Given the description of an element on the screen output the (x, y) to click on. 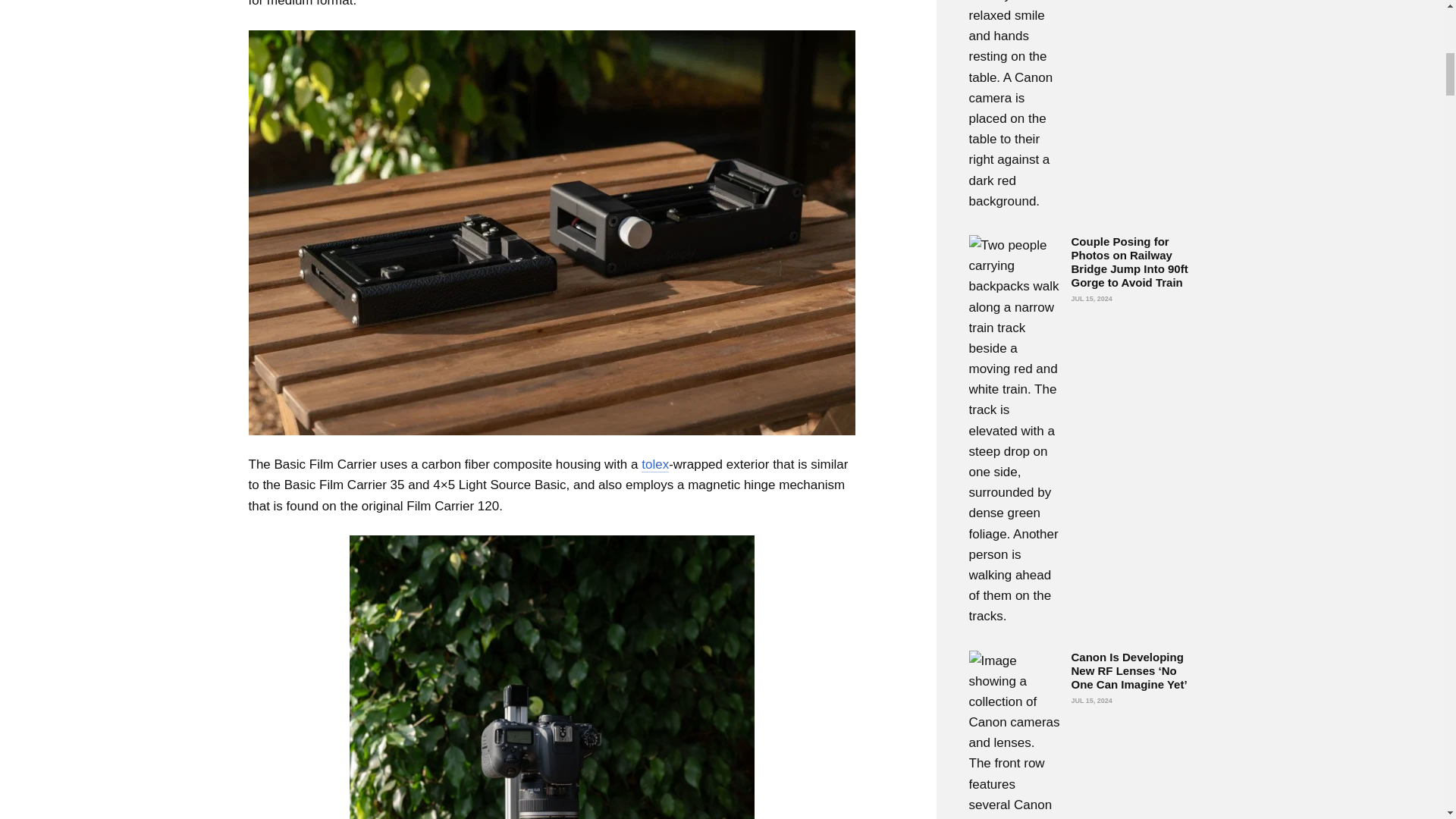
tolex (655, 464)
